Given the description of an element on the screen output the (x, y) to click on. 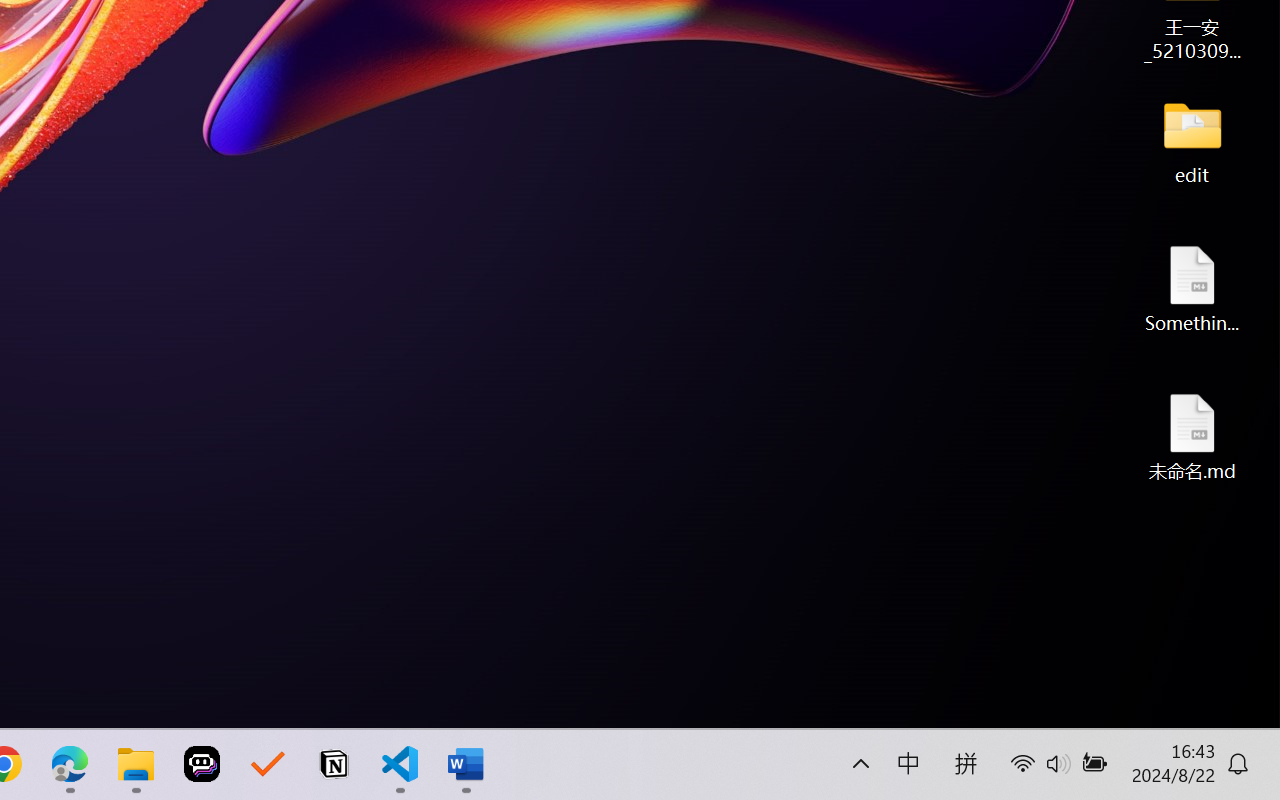
Something.md (1192, 288)
